Given the description of an element on the screen output the (x, y) to click on. 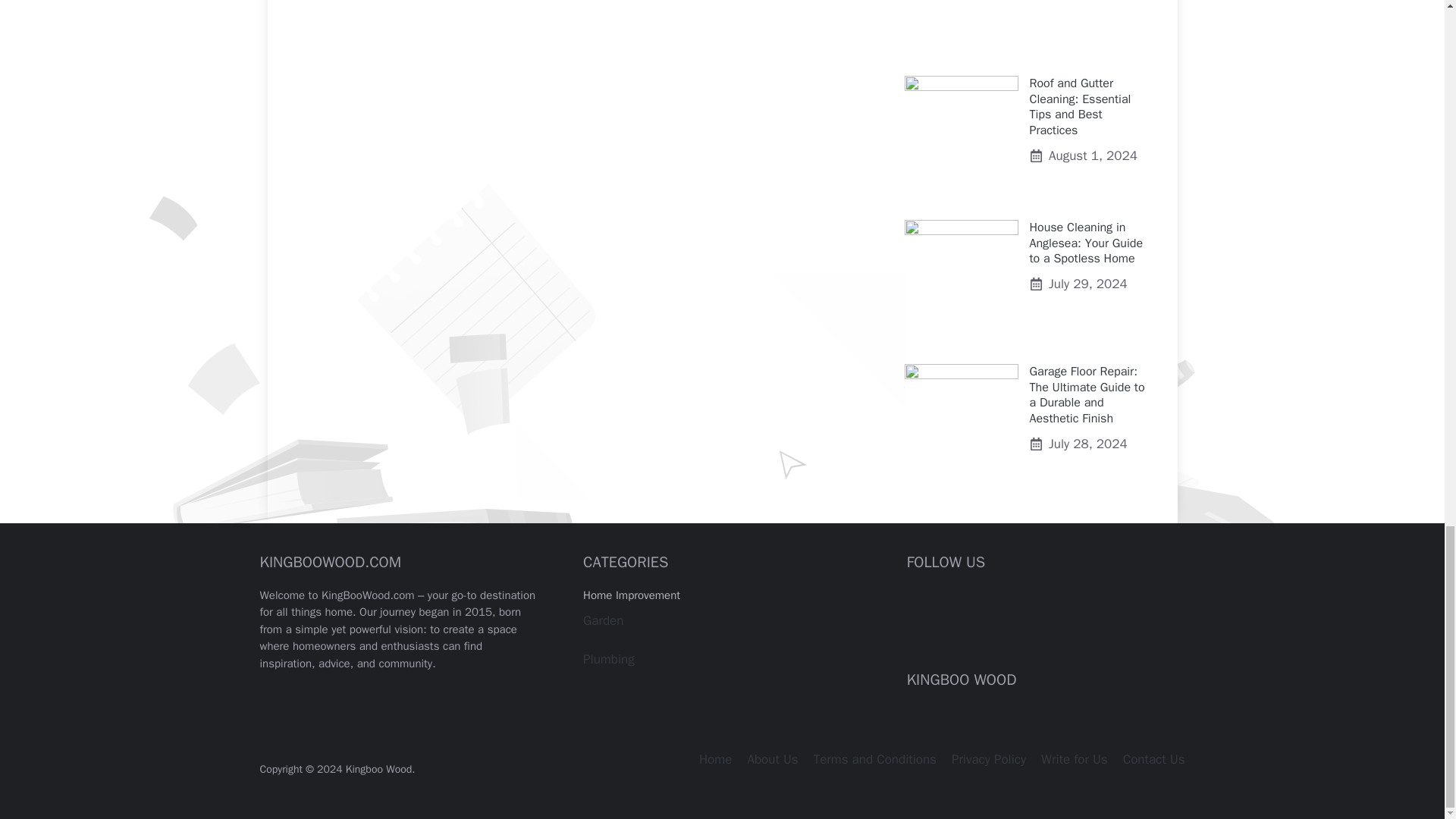
About Us (771, 759)
Write for Us (1074, 759)
Plumbing (608, 659)
Scroll back to top (1406, 42)
Home (715, 759)
Privacy Policy (989, 759)
Home Improvement (631, 594)
House Cleaning in Anglesea: Your Guide to a Spotless Home (1085, 243)
Garden (603, 620)
Terms and Conditions (874, 759)
Roof and Gutter Cleaning: Essential Tips and Best Practices (1080, 107)
